Given the description of an element on the screen output the (x, y) to click on. 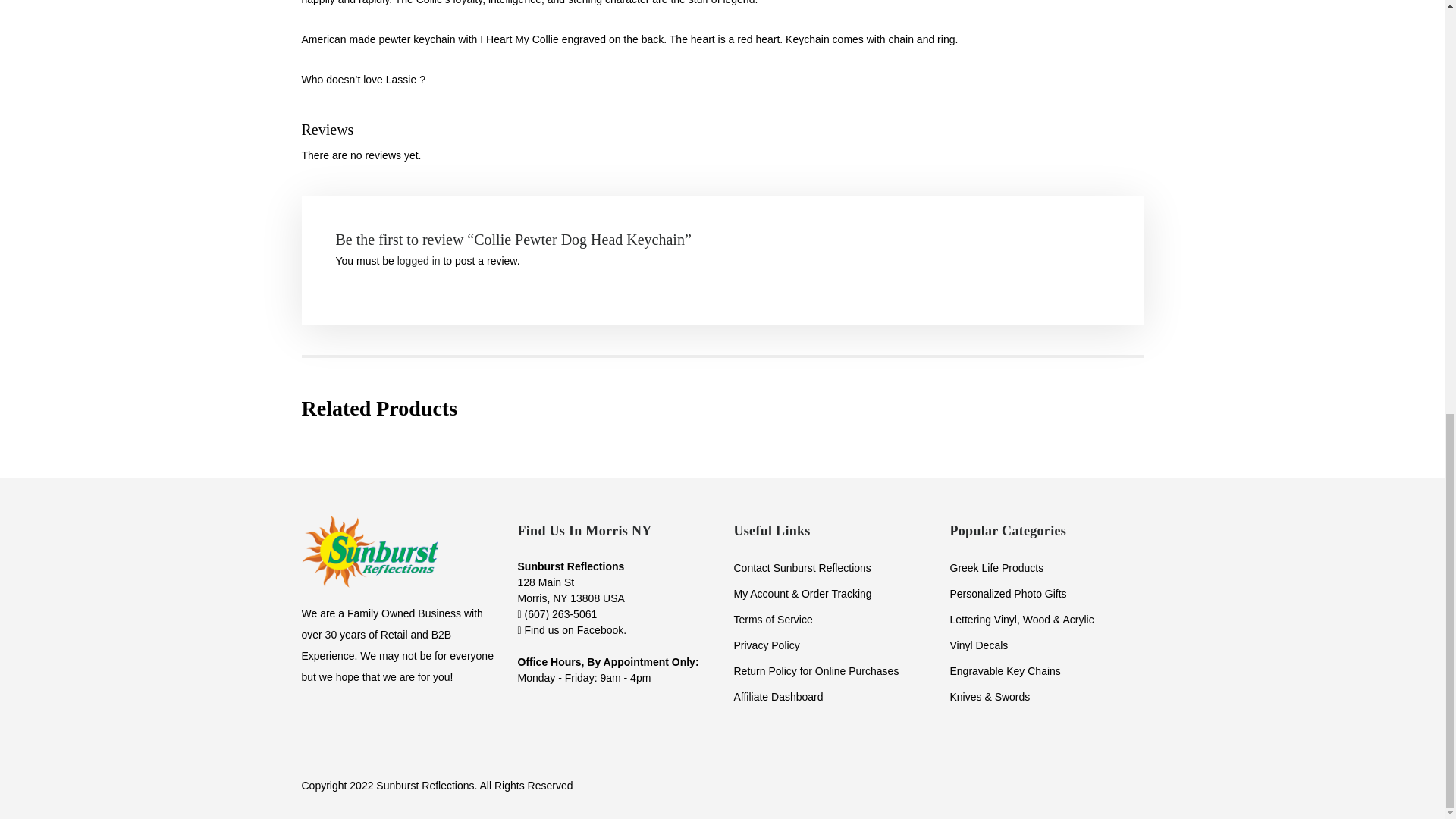
Sunburst Reflections (369, 550)
